Given the description of an element on the screen output the (x, y) to click on. 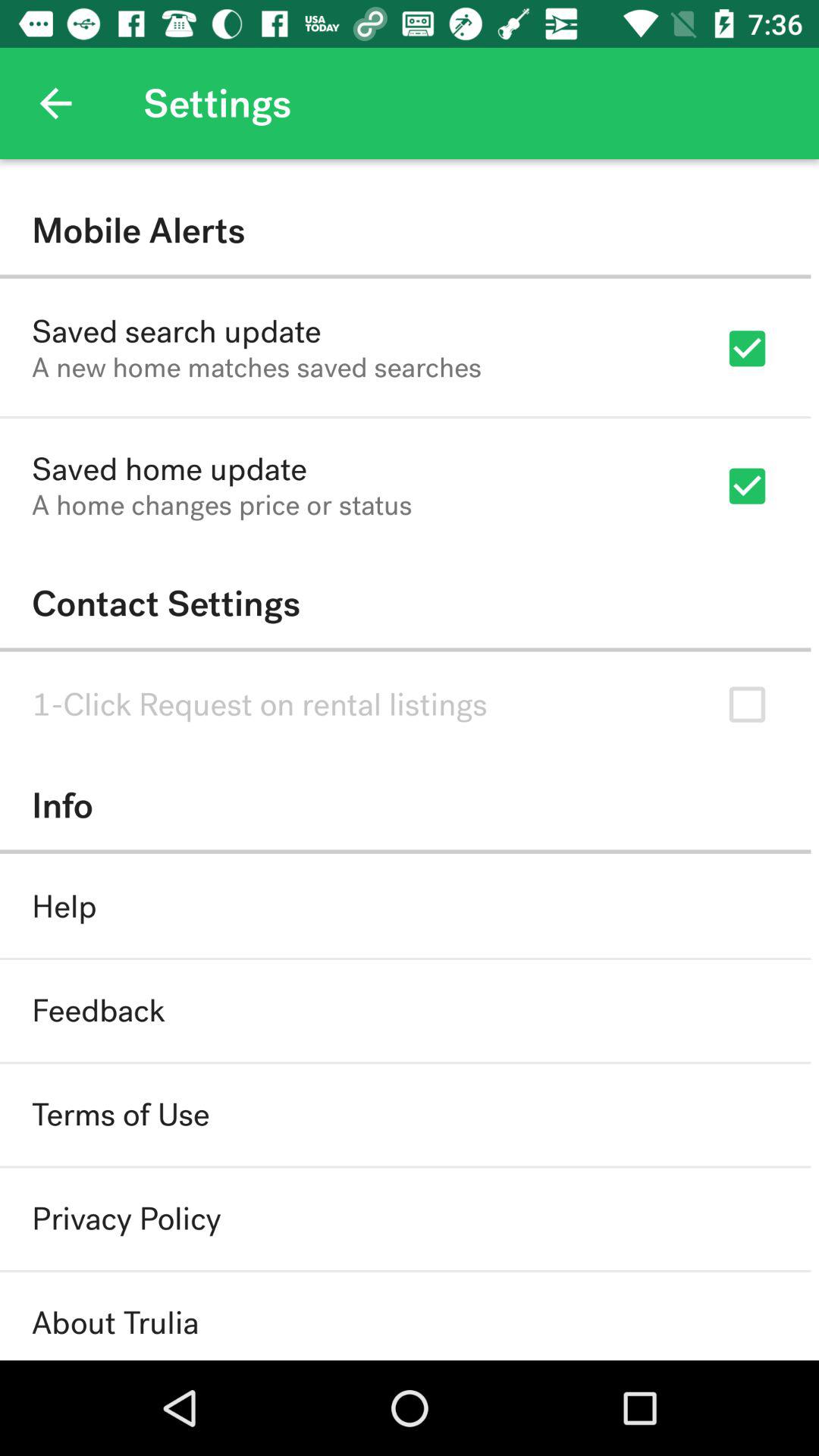
jump until the contact settings (405, 603)
